Given the description of an element on the screen output the (x, y) to click on. 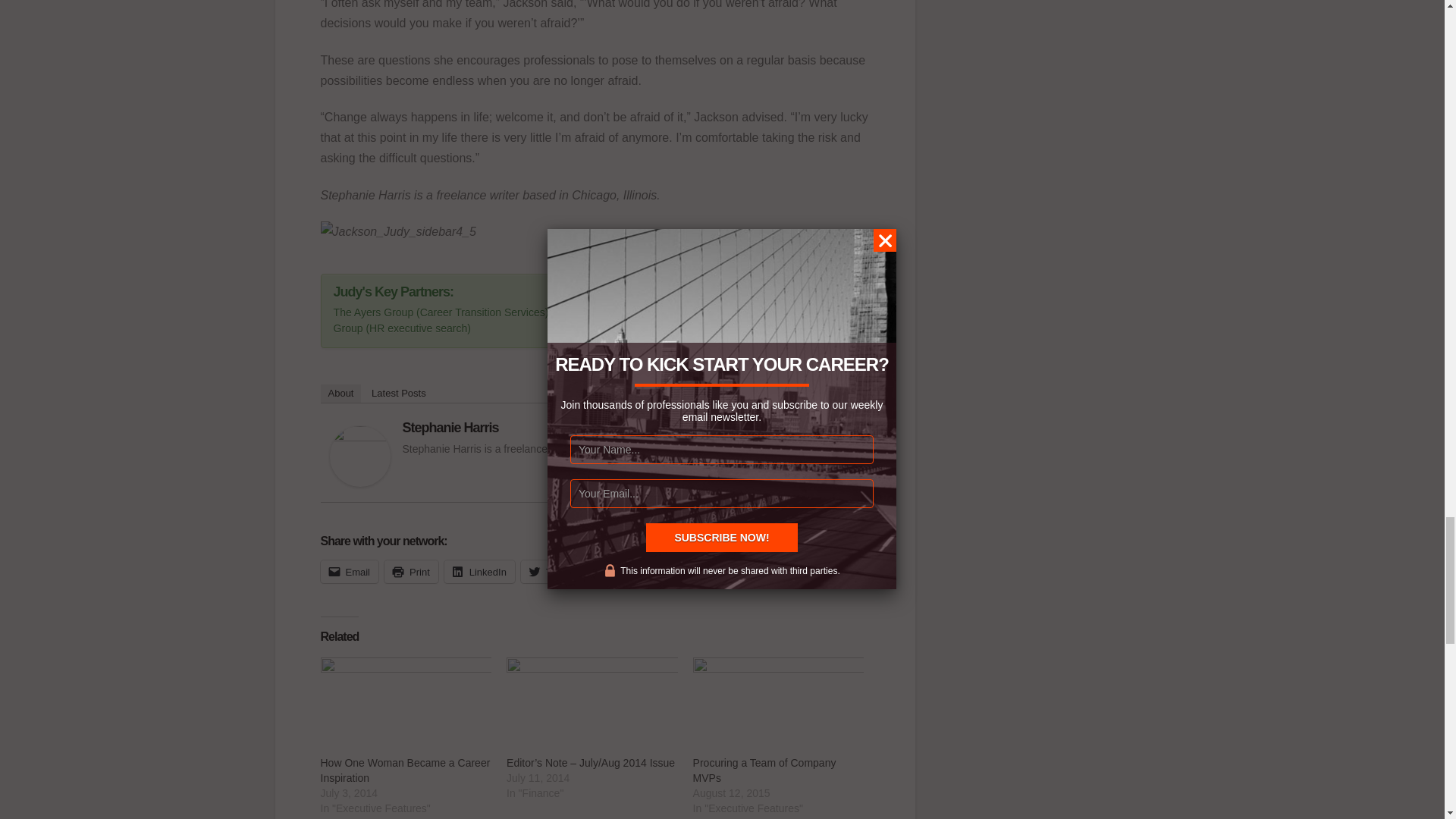
Click to print (411, 571)
Email (349, 571)
Print (411, 571)
Facebook (627, 571)
LinkedIn (479, 571)
Twitter (552, 571)
Stephanie Harris (359, 454)
Stephanie Harris (449, 427)
How One Woman Became a Career Inspiration (406, 706)
How One Woman Became a Career Inspiration (404, 769)
Click to share on LinkedIn (479, 571)
Click to share on Twitter (552, 571)
Click to email a link to a friend (349, 571)
Click to share on Pinterest (707, 571)
Latest Posts (398, 393)
